Given the description of an element on the screen output the (x, y) to click on. 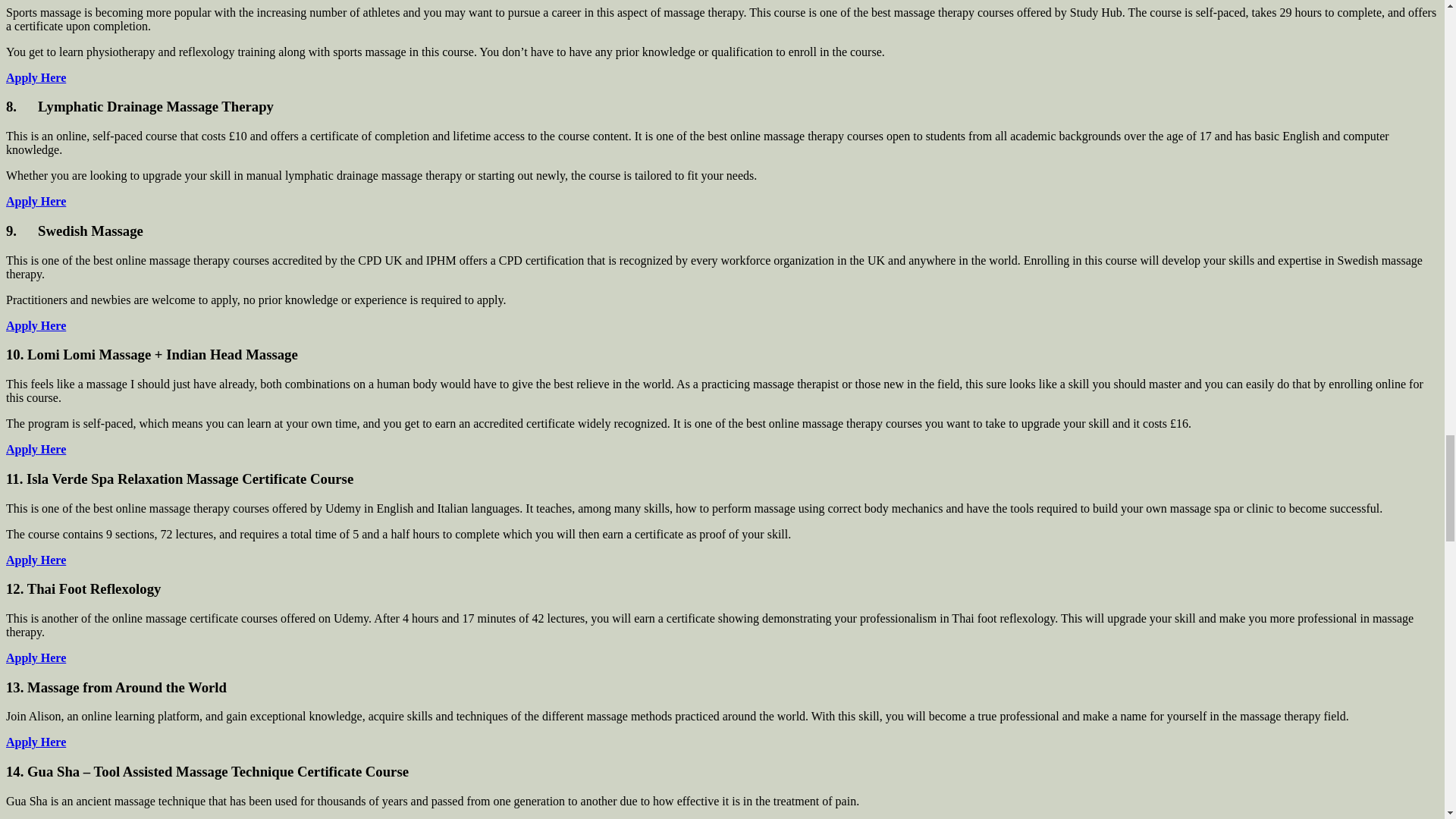
Apply Here (35, 559)
Apply Here (35, 741)
Apply Here (35, 325)
Apply Here (35, 657)
Apply Here (35, 77)
Apply Here (35, 449)
Apply Here (35, 201)
